Given the description of an element on the screen output the (x, y) to click on. 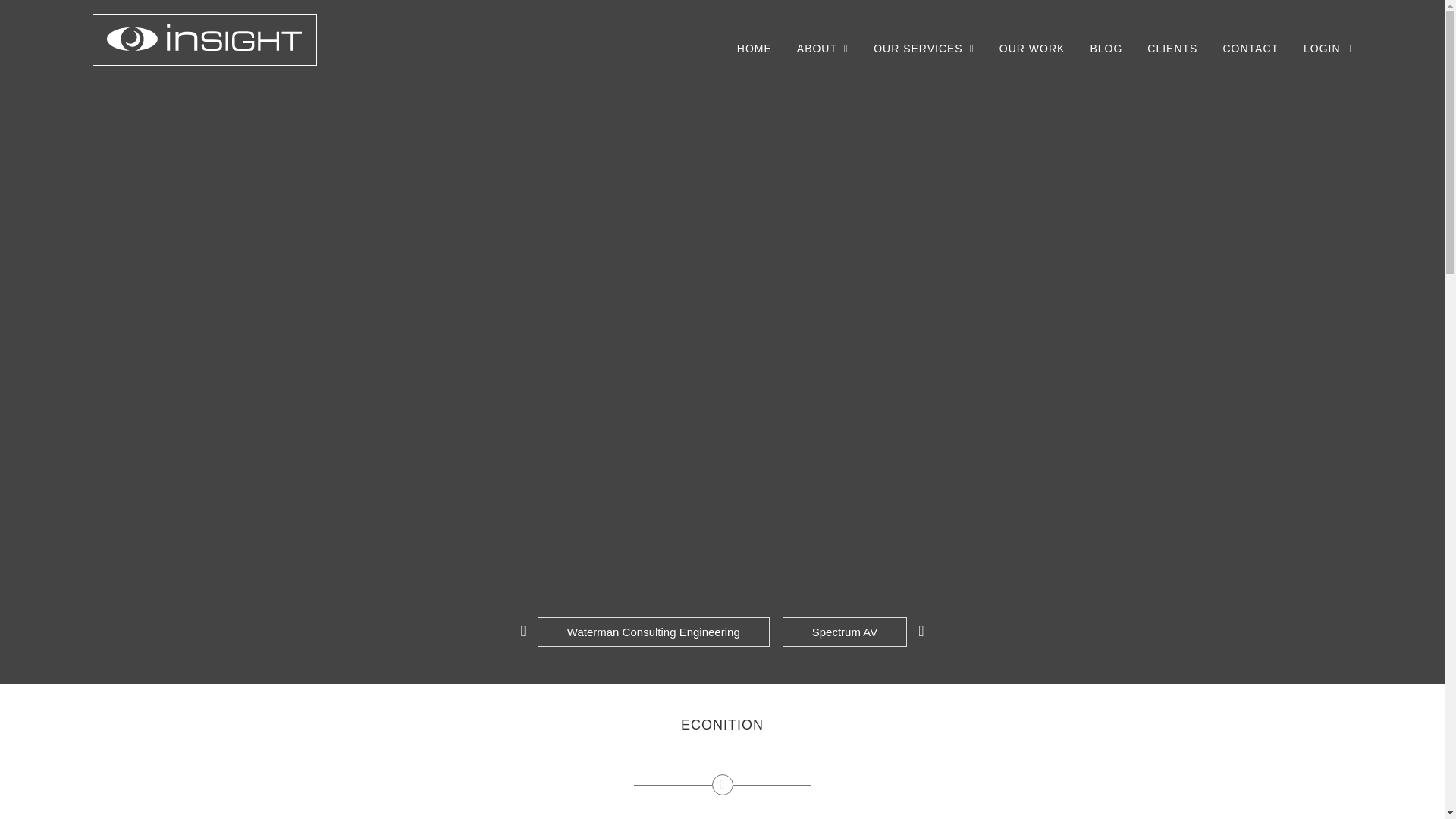
Spectrum AV (845, 632)
Waterman Consulting Engineering (653, 632)
OUR SERVICES (923, 48)
